Given the description of an element on the screen output the (x, y) to click on. 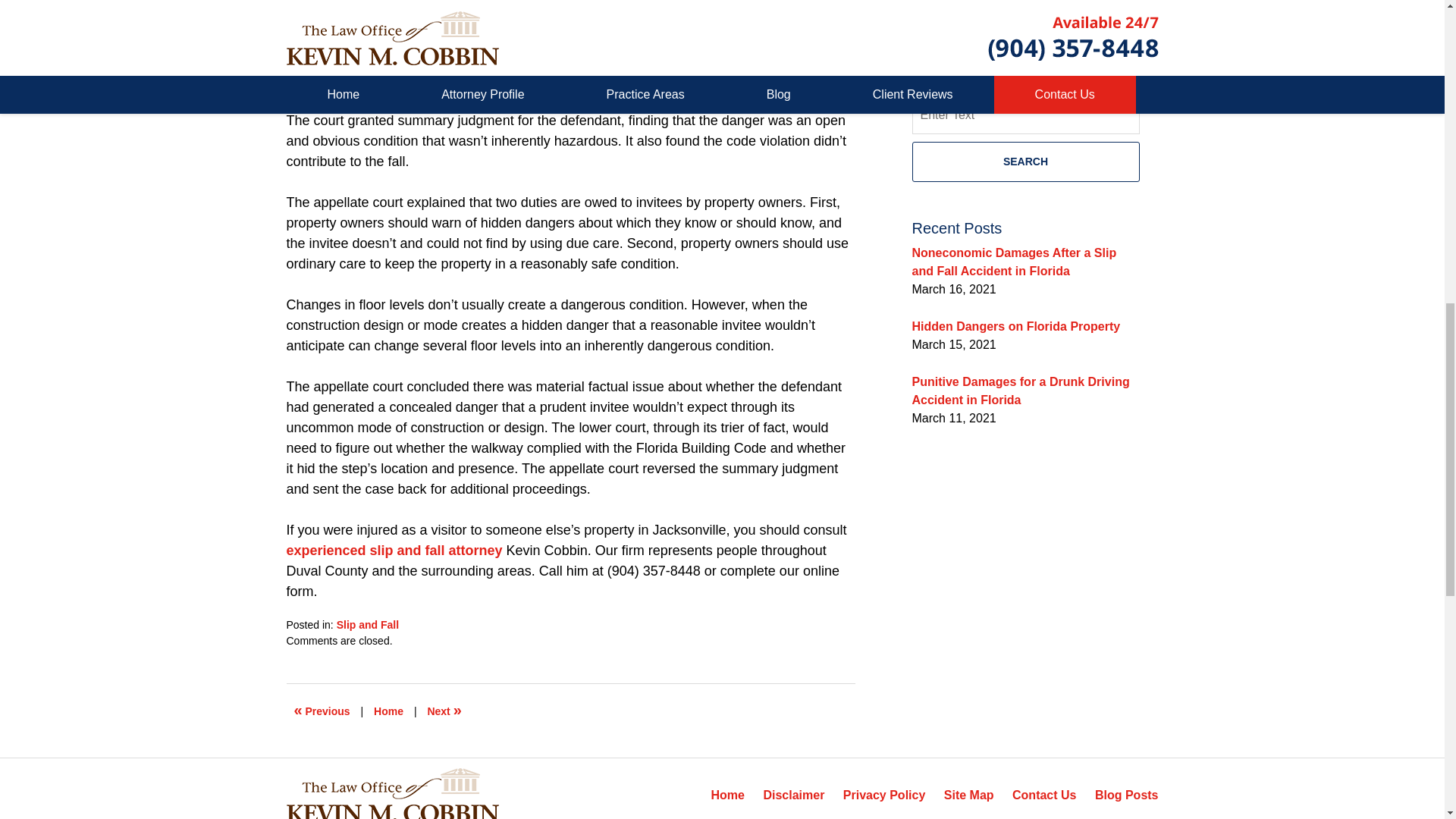
Slip and Fall (367, 624)
View all posts in Slip and Fall (367, 624)
Punitive Damages for a Drunk Driving Accident in Florida (322, 710)
SEARCH (1024, 161)
Hidden Dangers on Florida Property (1015, 326)
Punitive Damages for a Drunk Driving Accident in Florida (1020, 390)
experienced slip and fall attorney (394, 549)
Home (388, 710)
